Given the description of an element on the screen output the (x, y) to click on. 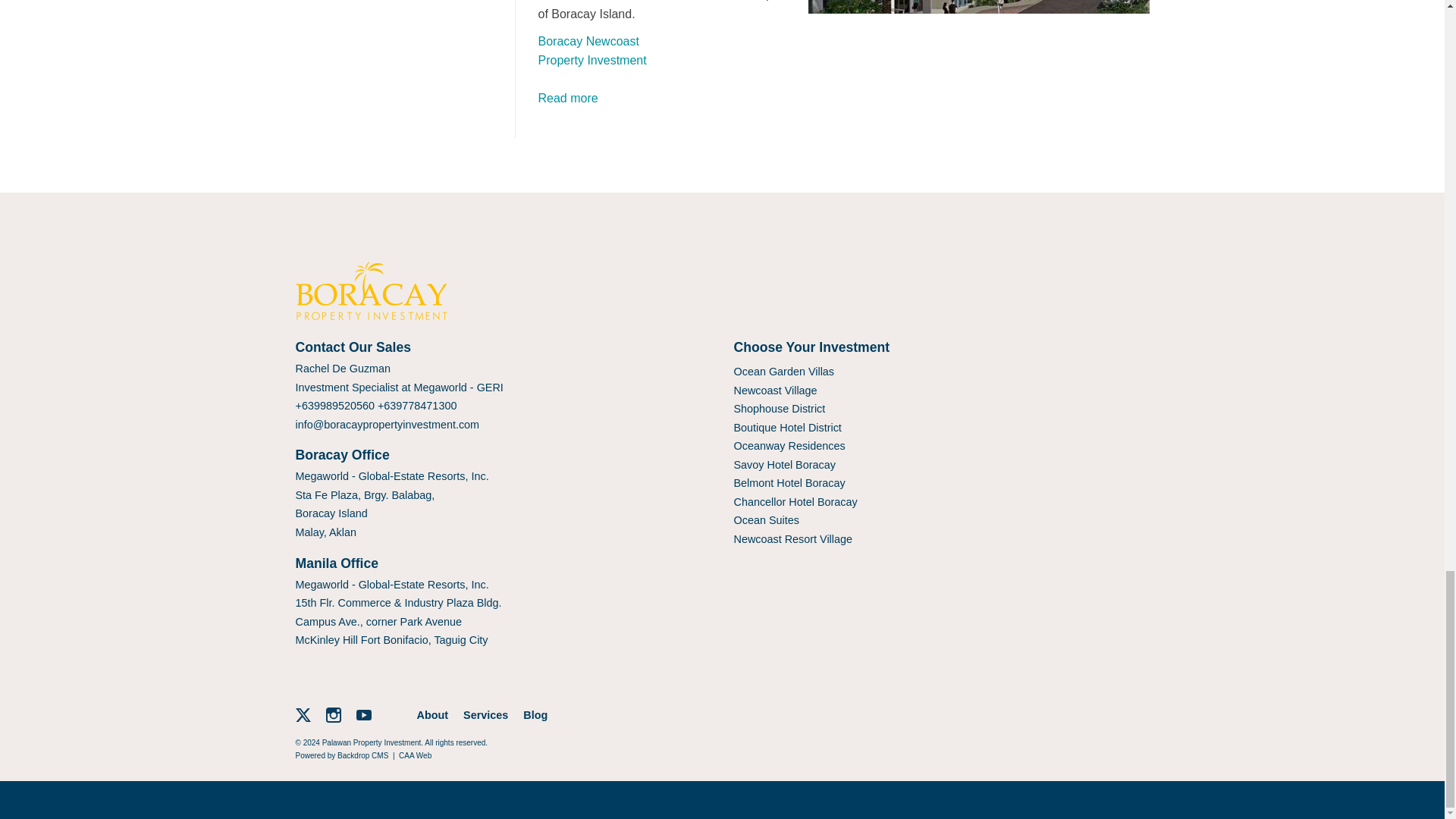
Property Investment (592, 60)
Boracay Newcoast (588, 41)
GERI Expands Condo Portfolio in Boracay Newcoast (568, 97)
